Given the description of an element on the screen output the (x, y) to click on. 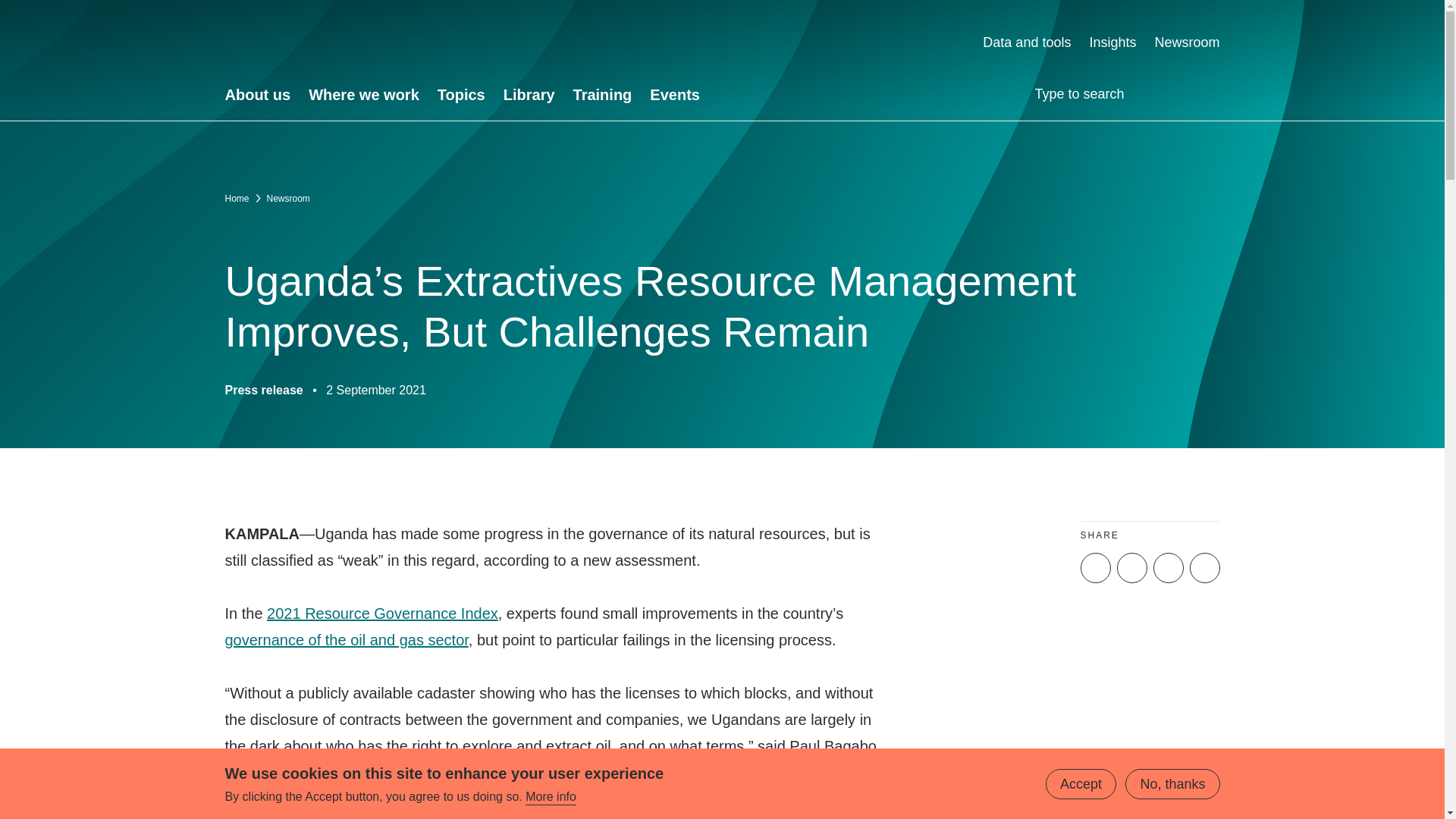
Topics (461, 94)
Share via Facebook (1167, 567)
Share via WhatsApp (1204, 567)
Where we work (363, 94)
About us (256, 94)
Newsroom (1187, 42)
Share via Linkedin (1131, 567)
Insights (1112, 42)
Share via Twitter (1094, 567)
Data and tools (1026, 42)
Return to the homepage (368, 42)
